Given the description of an element on the screen output the (x, y) to click on. 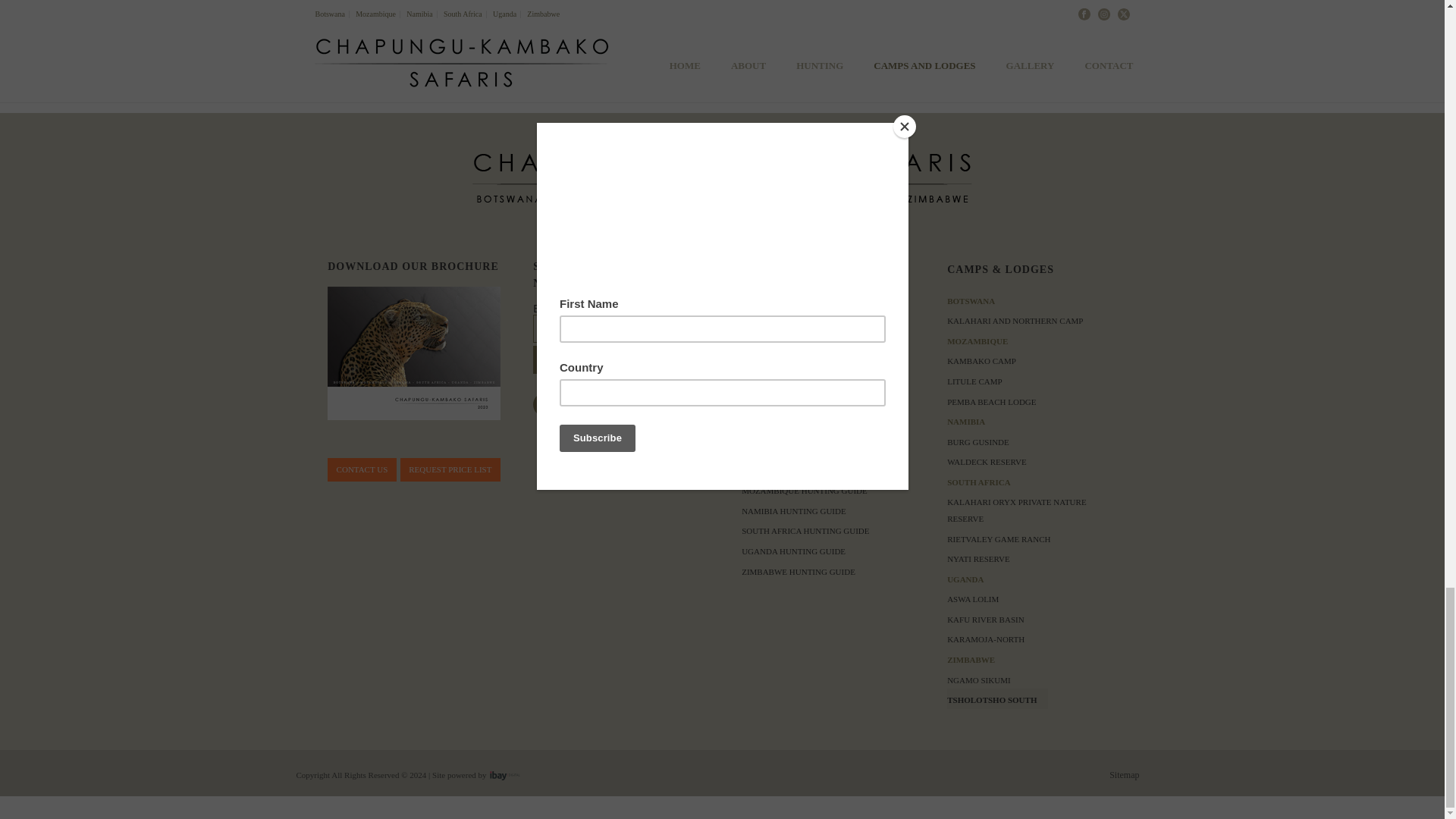
Subscribe (575, 359)
 instagram (580, 405)
 facebook (544, 405)
 twitter (616, 405)
